Given the description of an element on the screen output the (x, y) to click on. 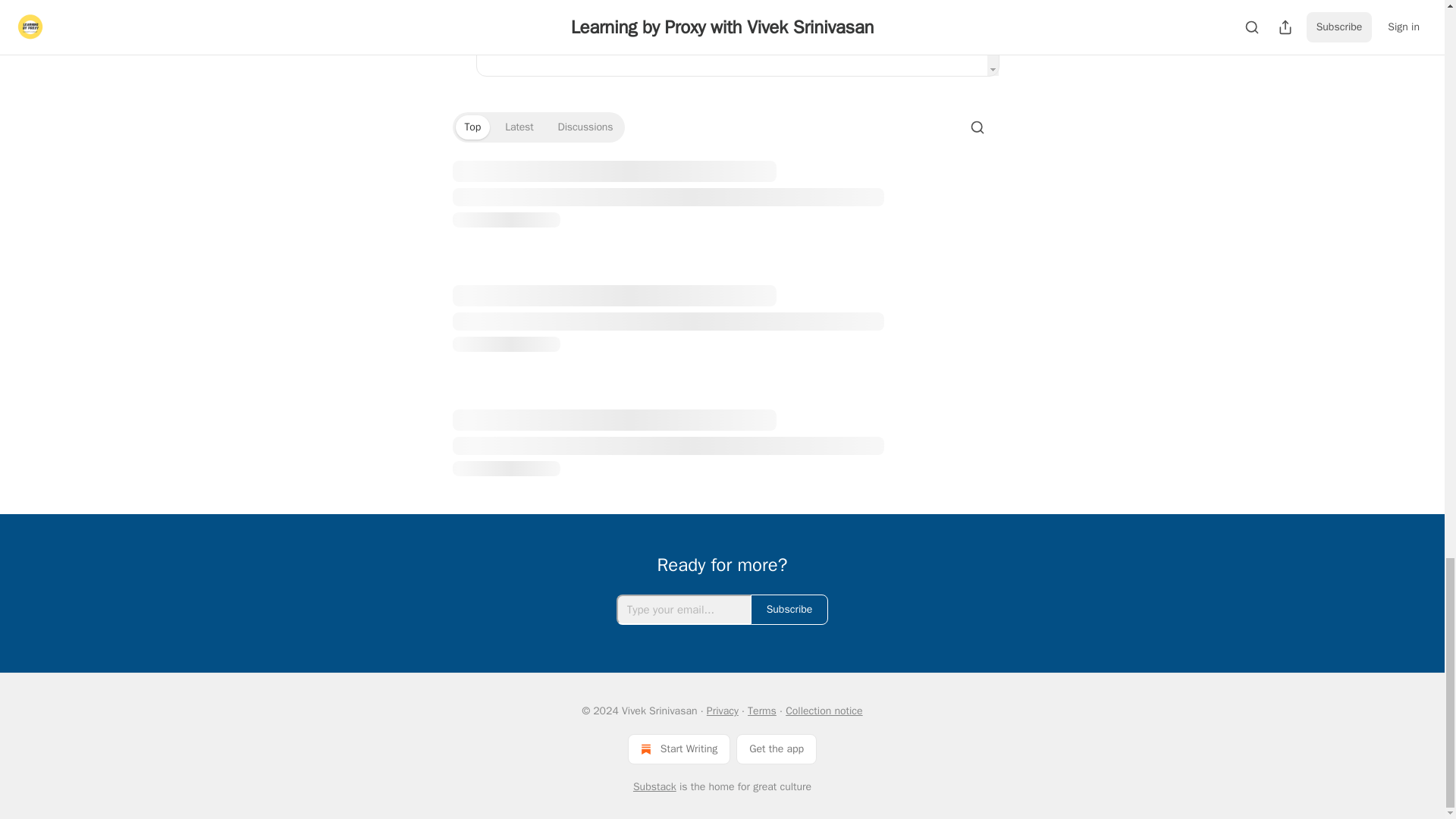
Top (471, 127)
Discussions (585, 127)
Latest (518, 127)
